Given the description of an element on the screen output the (x, y) to click on. 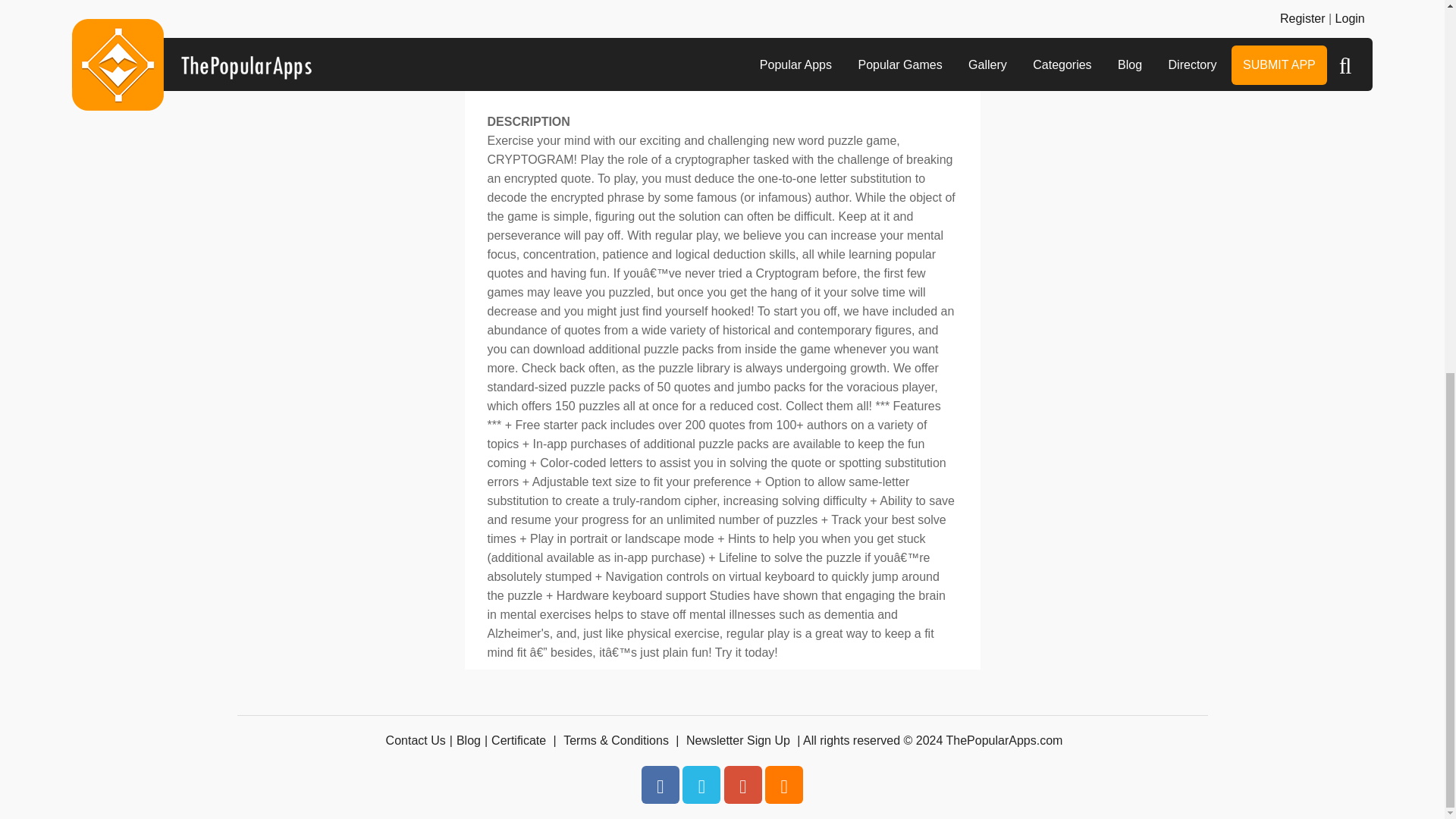
Newsletter Sign Up (737, 739)
Pinterest (742, 784)
Contact Us (415, 739)
Blog (468, 739)
Certificate (518, 739)
Rss (784, 784)
Facebook (660, 784)
Twitter (701, 784)
